Given the description of an element on the screen output the (x, y) to click on. 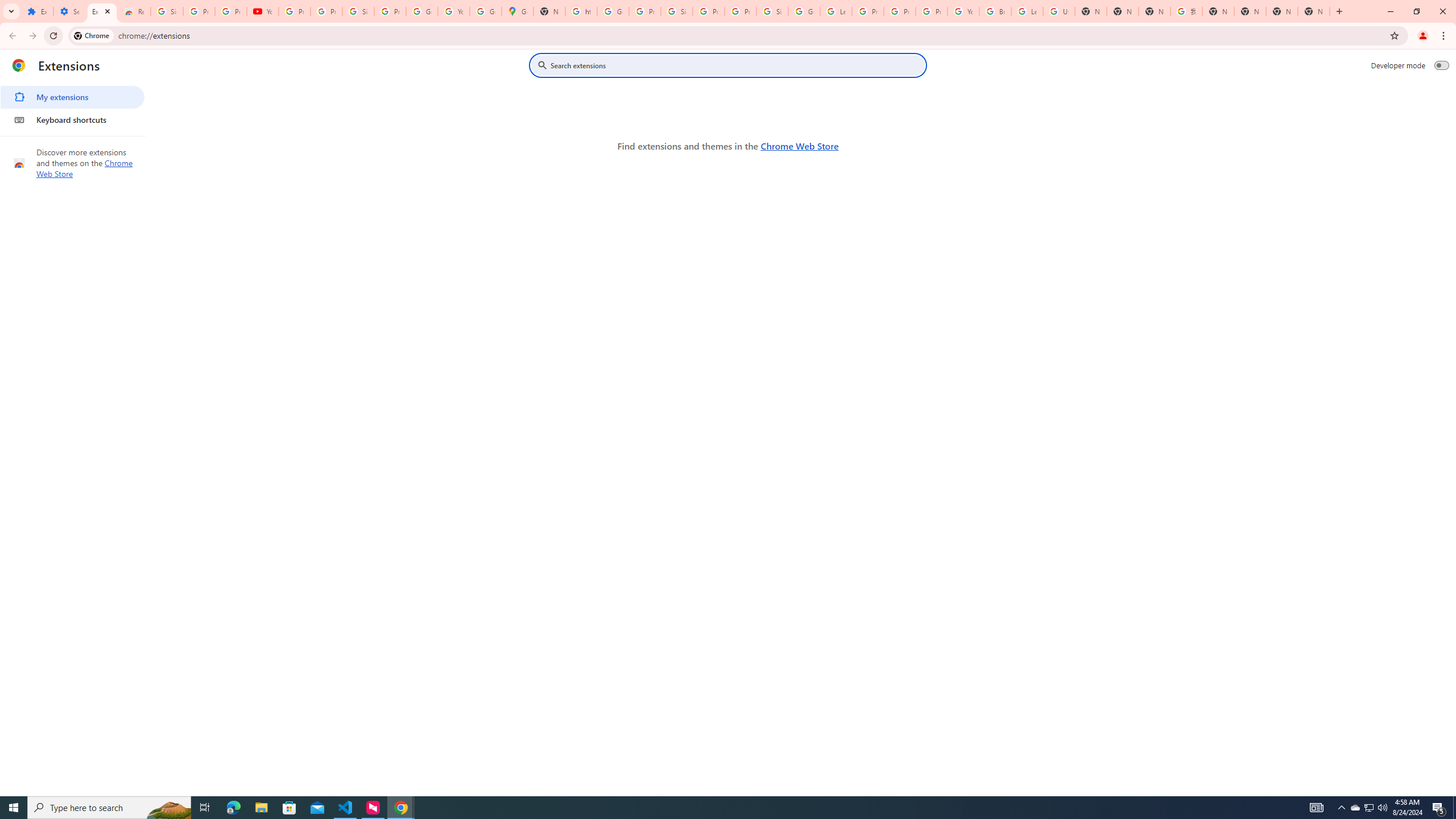
Sign in - Google Accounts (166, 11)
Keyboard shortcuts (72, 119)
Extensions (37, 11)
Extensions (101, 11)
Privacy Help Center - Policies Help (899, 11)
Search extensions (735, 65)
https://scholar.google.com/ (581, 11)
Settings (69, 11)
